Given the description of an element on the screen output the (x, y) to click on. 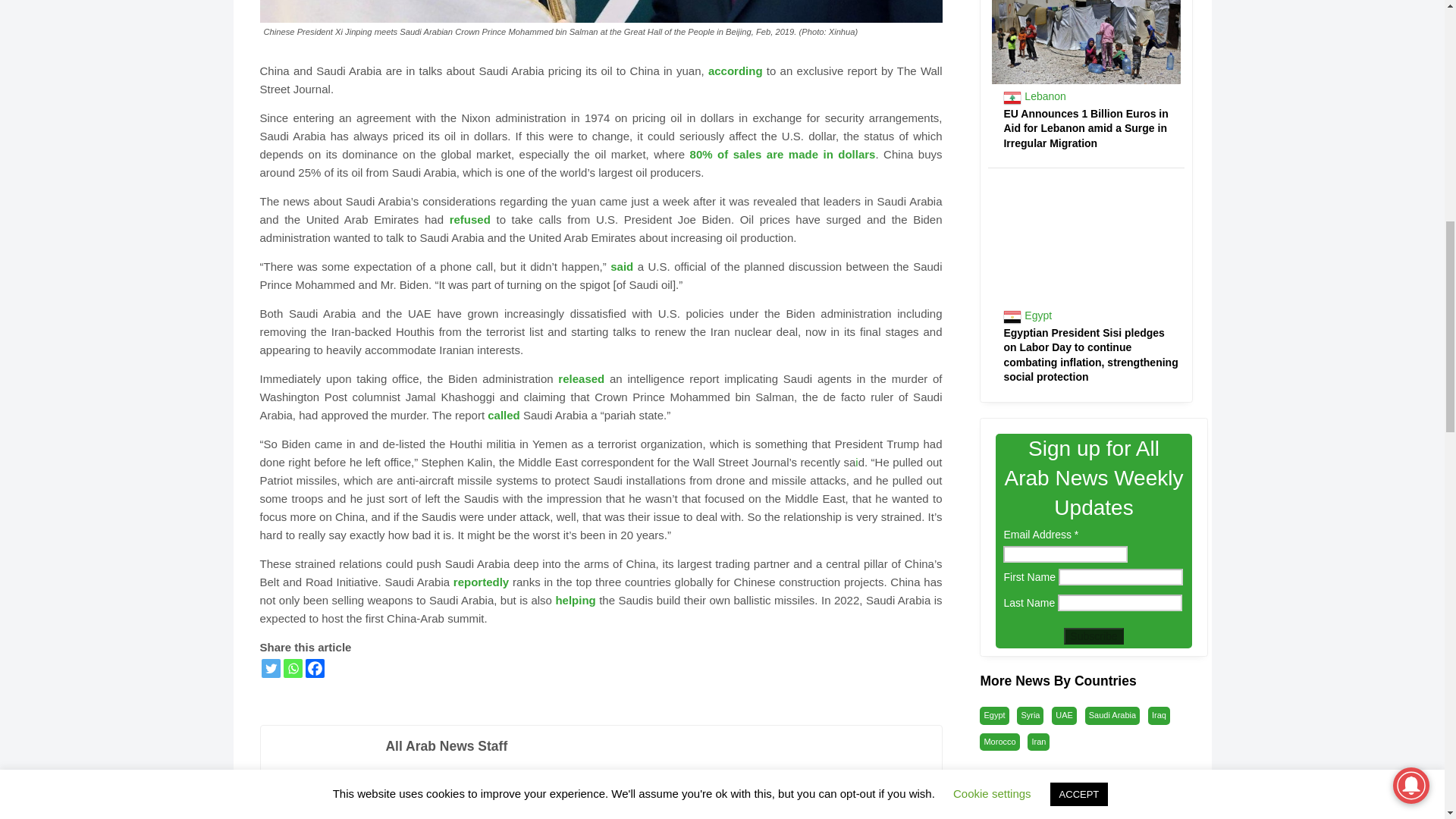
reportedly (480, 581)
Twitter (269, 668)
called (503, 414)
released (580, 378)
helping (574, 599)
Whatsapp (292, 668)
according (734, 70)
refused (469, 219)
Facebook (313, 668)
said (621, 266)
Subscribe (1093, 636)
